Given the description of an element on the screen output the (x, y) to click on. 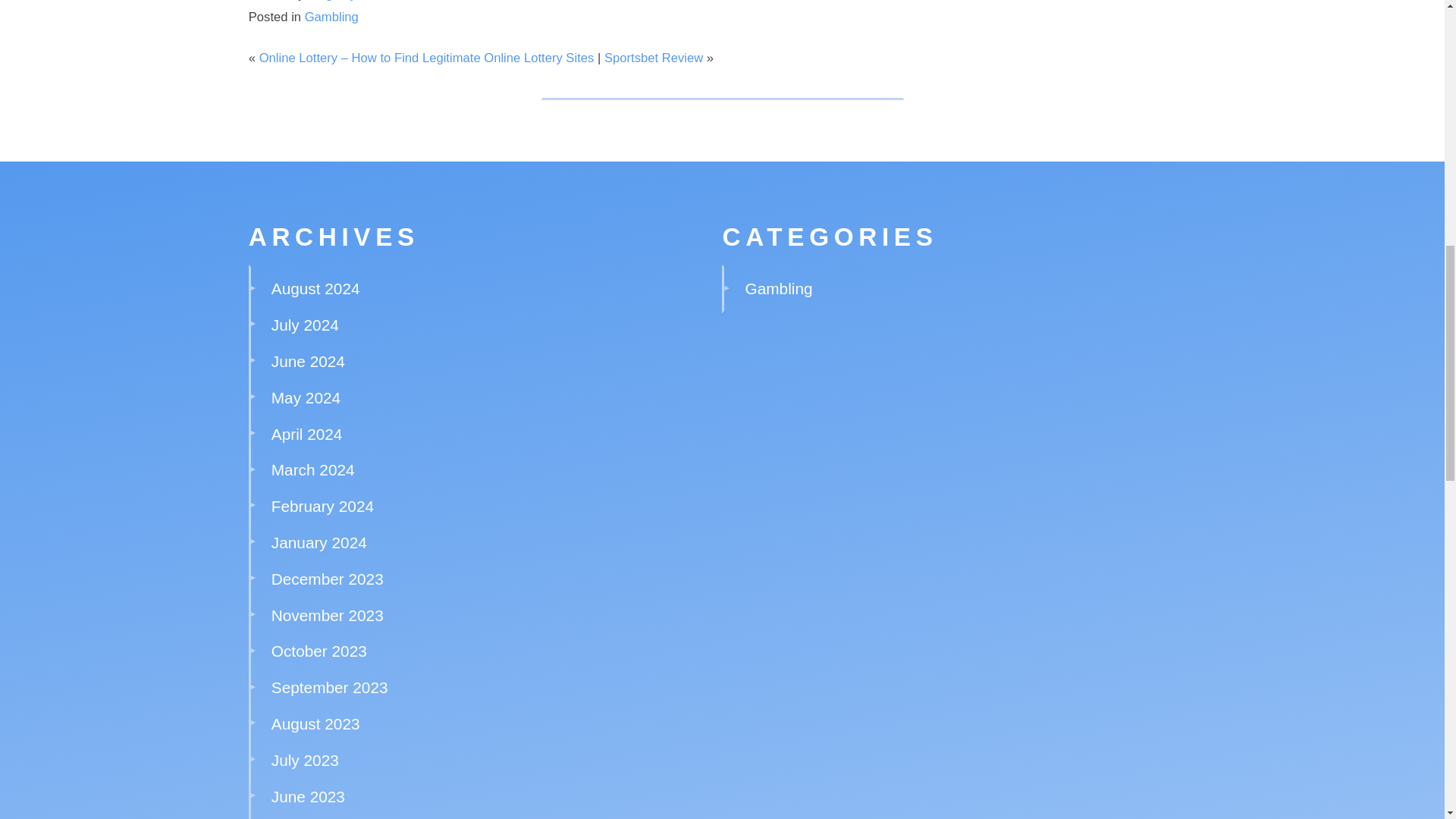
Gambling (331, 16)
June 17, 2023 (456, 0)
January 2024 (318, 542)
March 2024 (312, 469)
Sportsbet Review (653, 57)
June 2023 (307, 796)
July 2023 (304, 760)
October 2023 (318, 651)
May 2024 (305, 397)
August 2024 (314, 288)
